Given the description of an element on the screen output the (x, y) to click on. 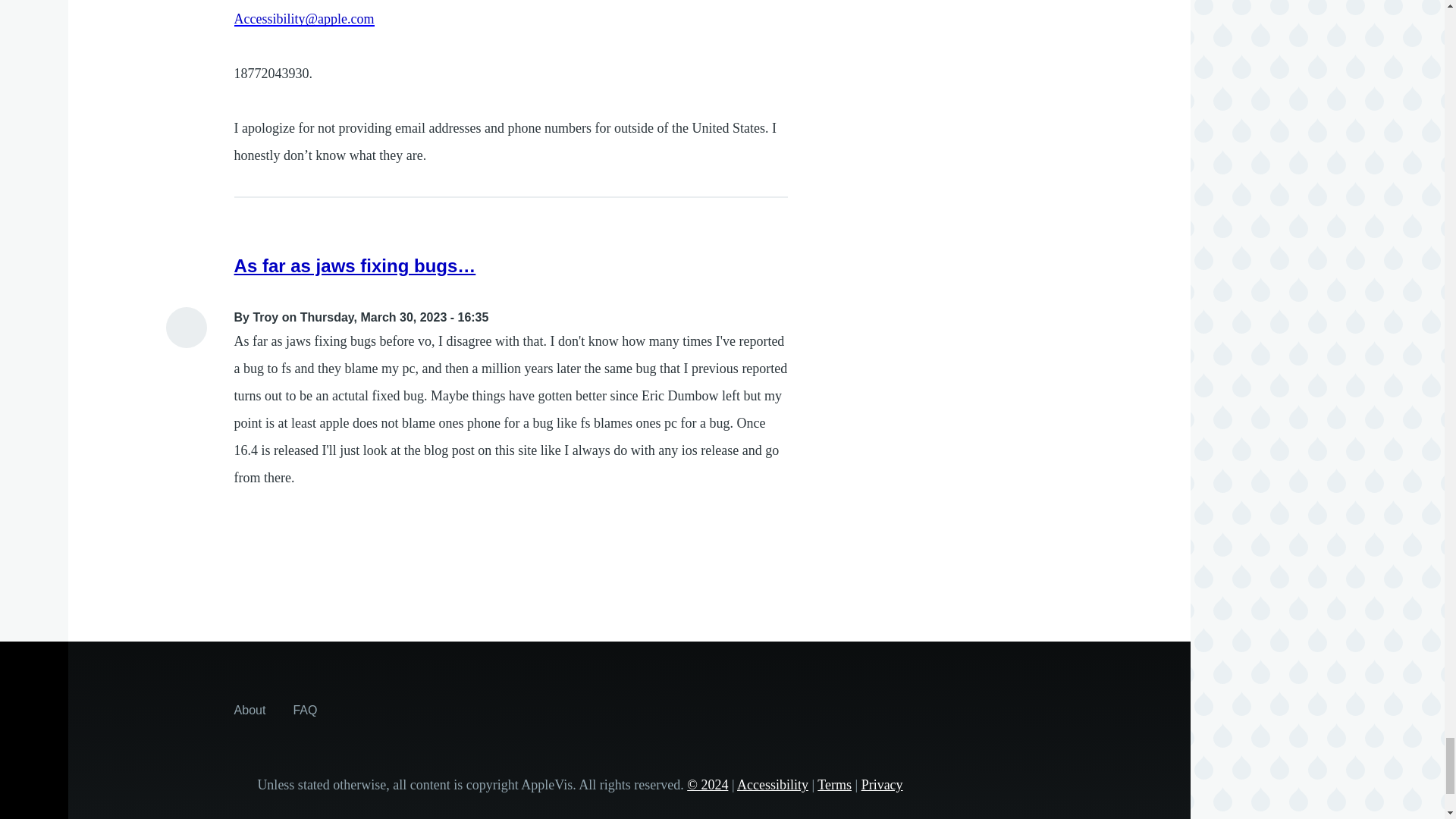
Answers to some frequently asked questions about AppleVis (304, 709)
About (250, 709)
